Given the description of an element on the screen output the (x, y) to click on. 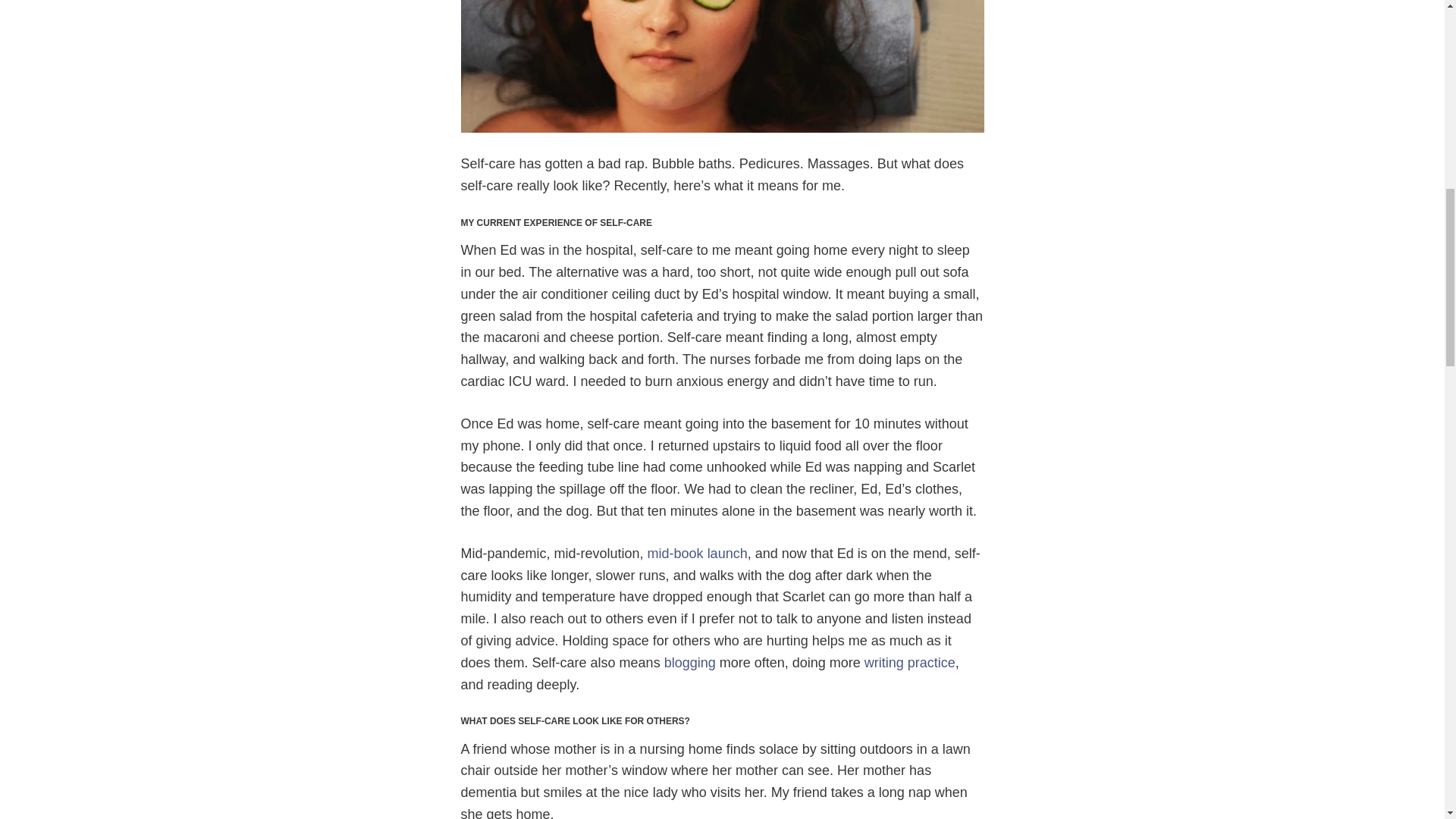
blogging (689, 662)
mid-book launch (697, 553)
writing practice (909, 662)
